Given the description of an element on the screen output the (x, y) to click on. 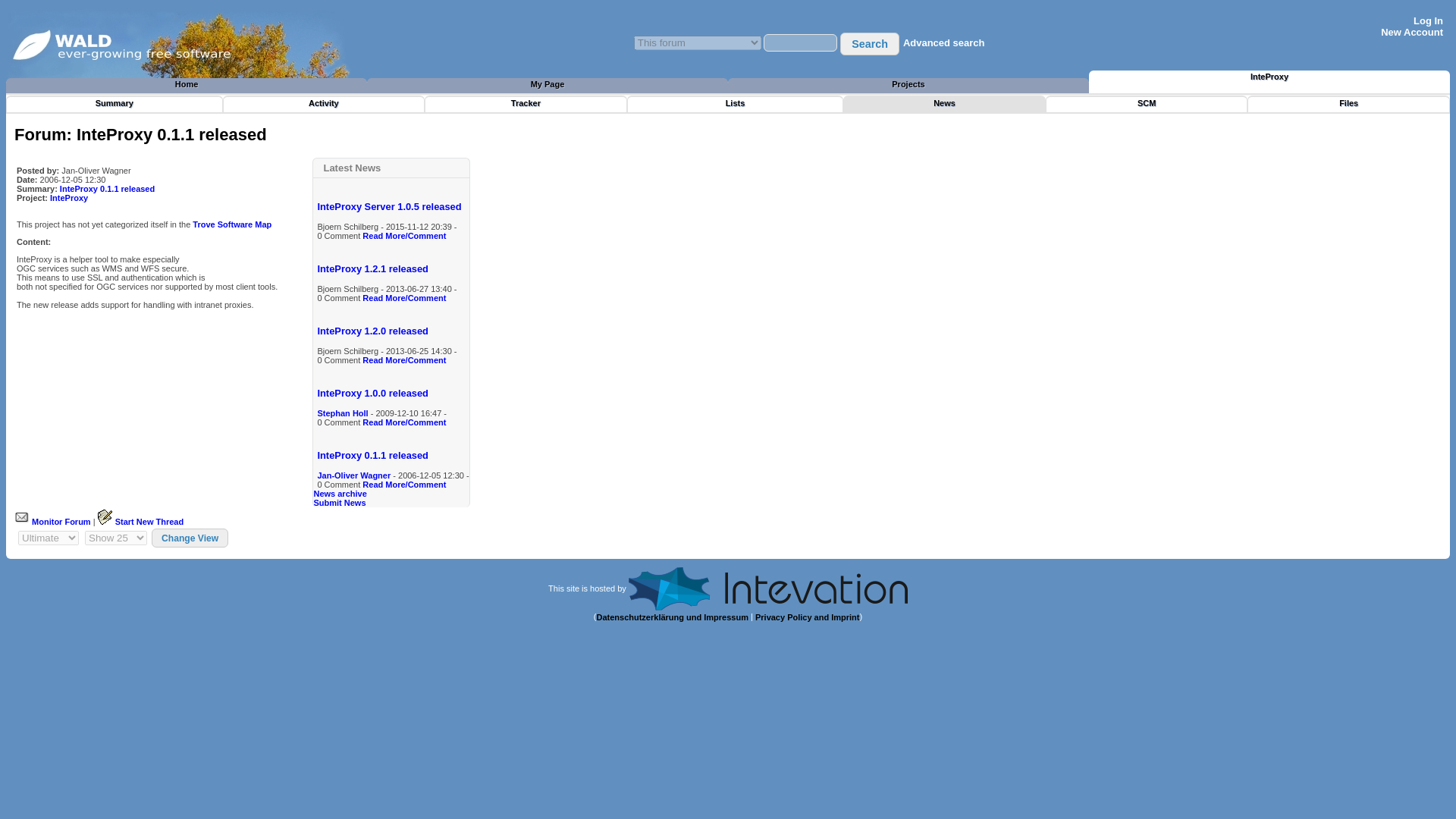
Activity (323, 104)
InteProxy Server 1.0.5 released (389, 206)
Flash head line from the project. (944, 104)
Projects (908, 86)
Advanced search (943, 42)
InteProxy 0.1.1 released (106, 188)
Home (185, 86)
SCM (1146, 104)
Stephan Holl (342, 412)
Last activities per category. (323, 104)
